Given the description of an element on the screen output the (x, y) to click on. 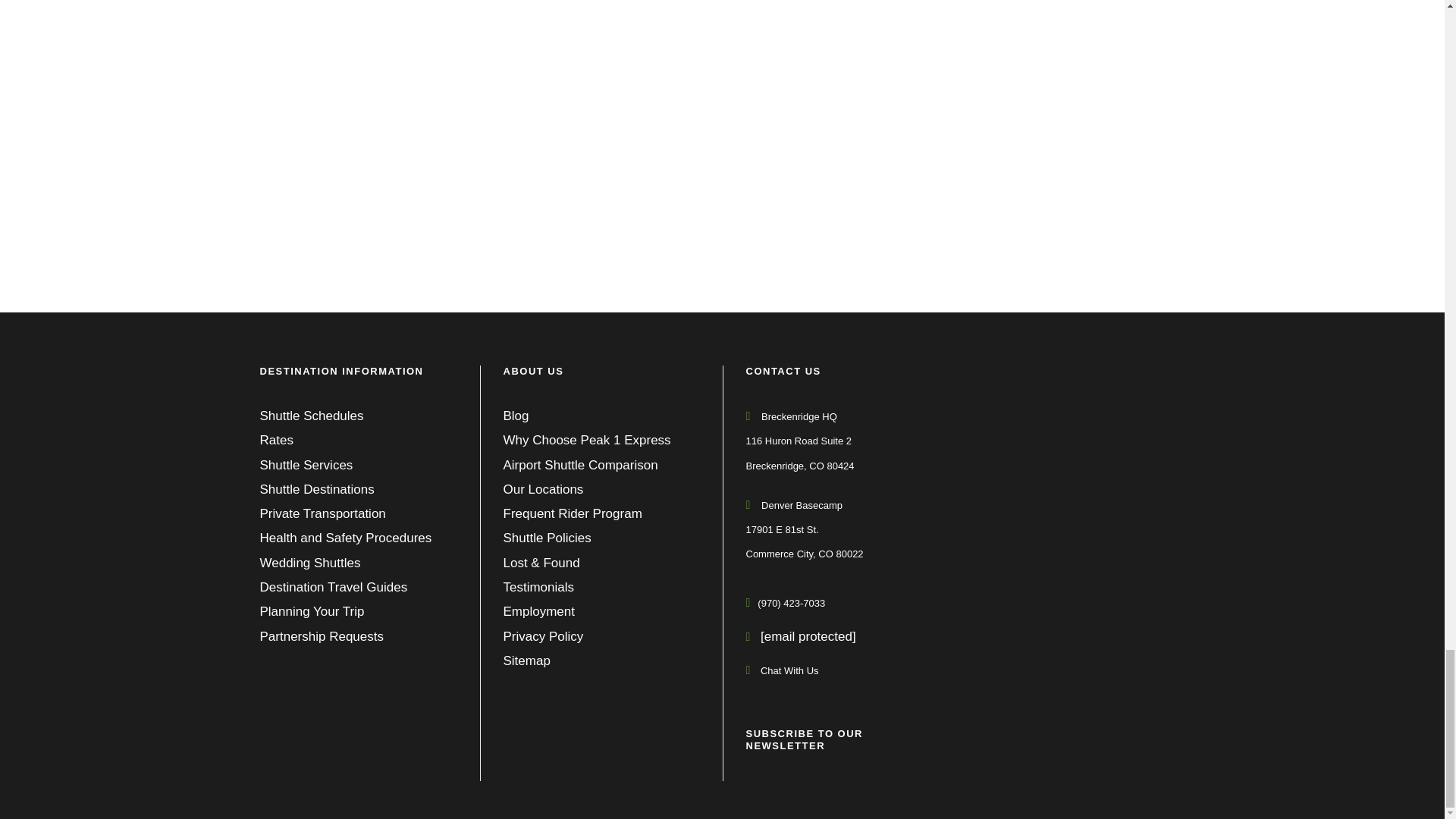
DenverAirporttoBreckThumbnail (478, 120)
